Given the description of an element on the screen output the (x, y) to click on. 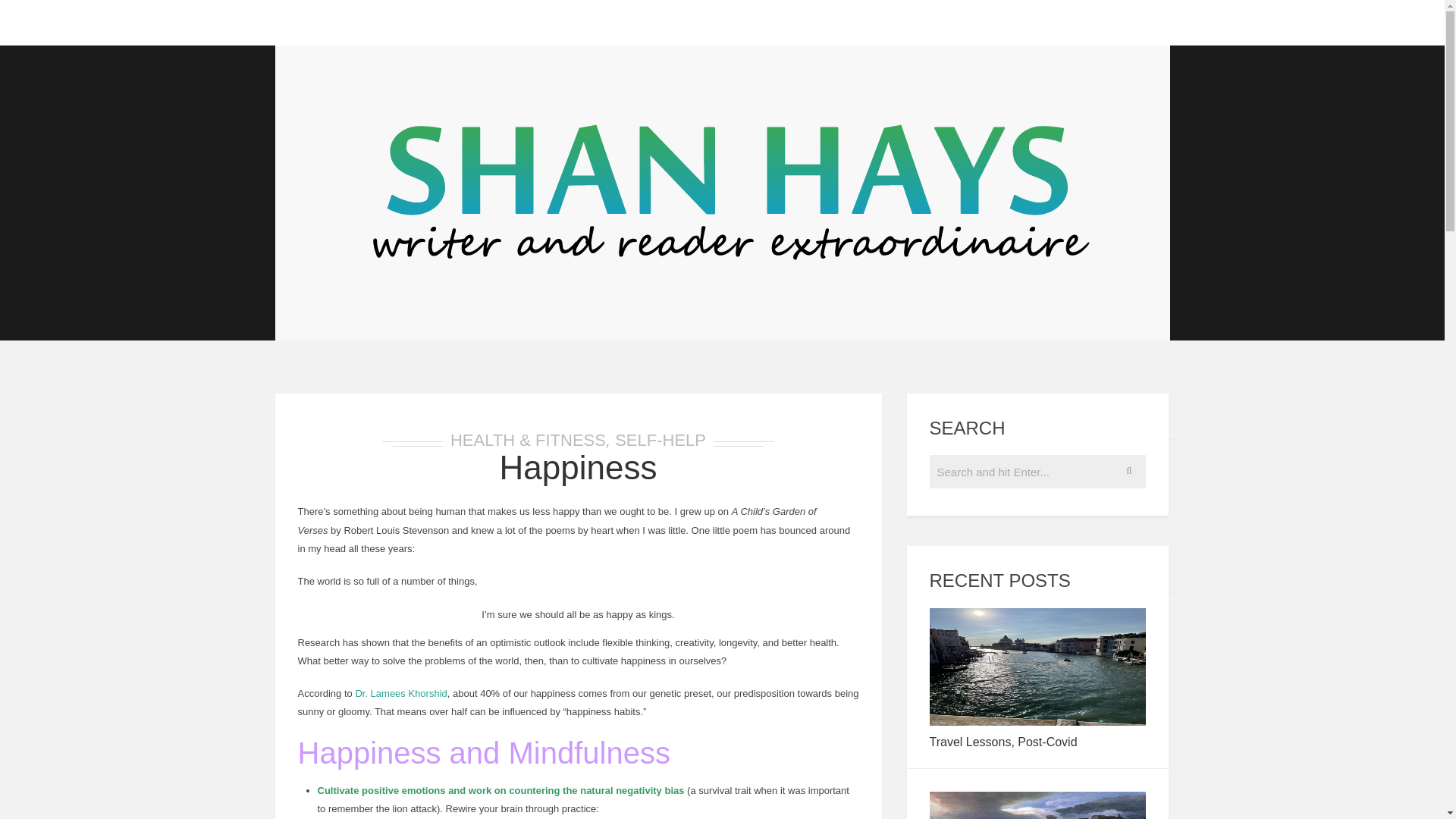
Dr. Lamees Khorshid (400, 693)
Happiness (578, 467)
HOME (298, 22)
BLOG (352, 22)
Search and hit Enter... (1038, 471)
Permanent Link to Travel Lessons, Post-Covid (1037, 722)
USEFUL (533, 22)
SELF-HELP (660, 439)
CONTACT (611, 22)
BOOK REVIEWS (439, 22)
